Given the description of an element on the screen output the (x, y) to click on. 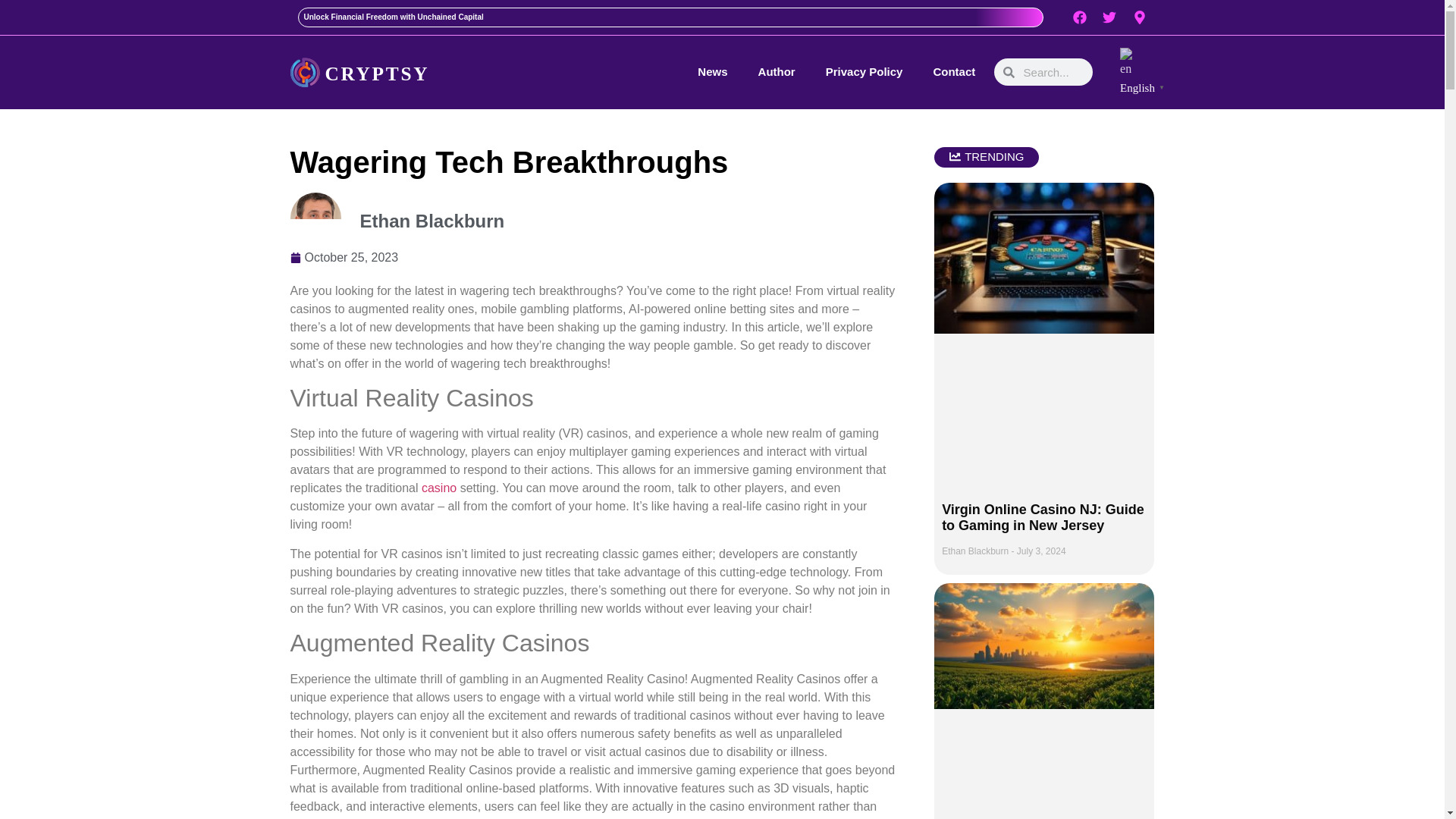
Author (776, 71)
Privacy Policy (863, 71)
Contact (954, 71)
Unlock Financial Freedom with Unchained Capital (392, 17)
casino (439, 487)
